Given the description of an element on the screen output the (x, y) to click on. 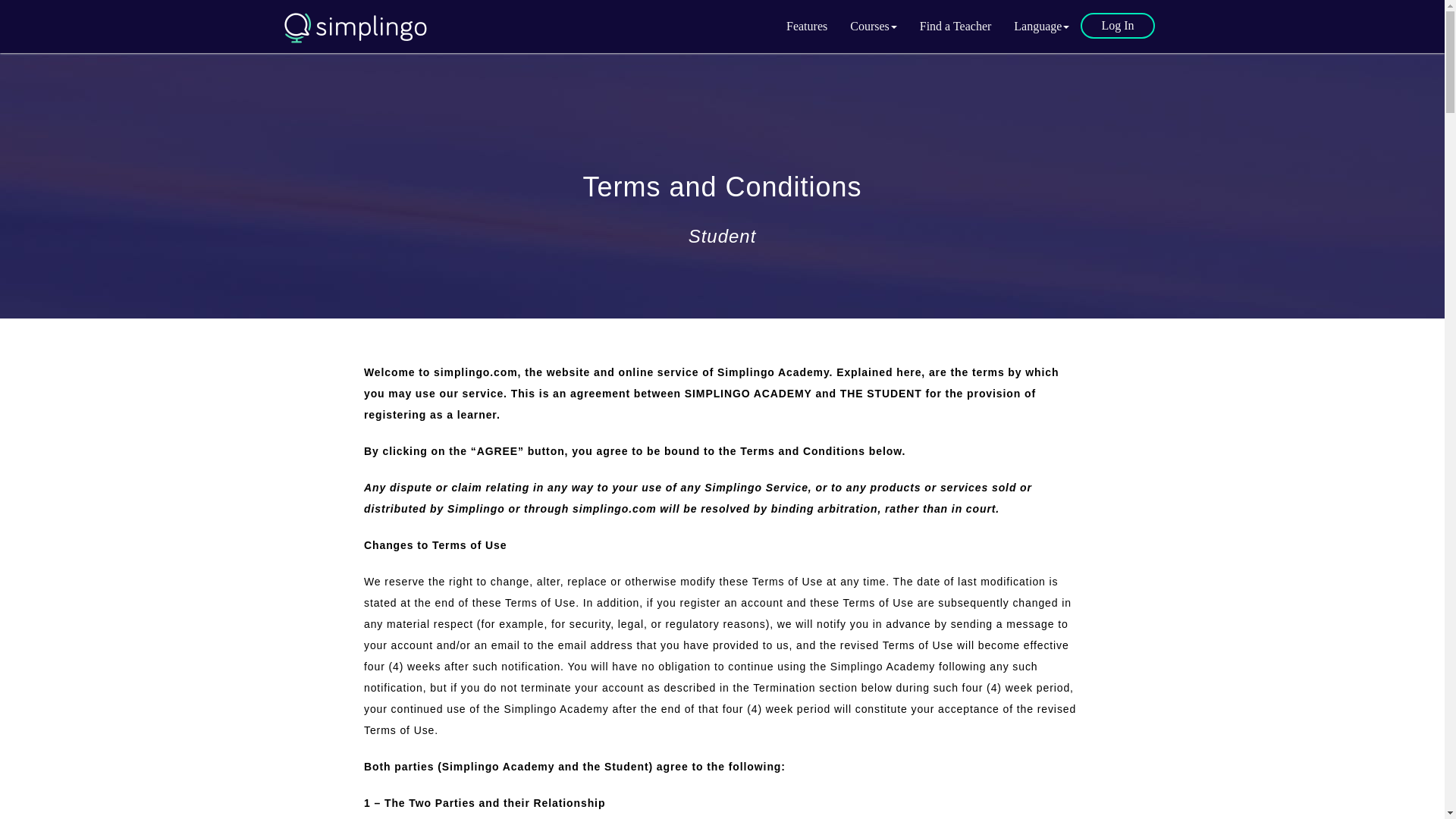
Courses (873, 26)
Language (1041, 26)
Features (806, 26)
Find a Teacher (955, 26)
Log In (1117, 25)
